Given the description of an element on the screen output the (x, y) to click on. 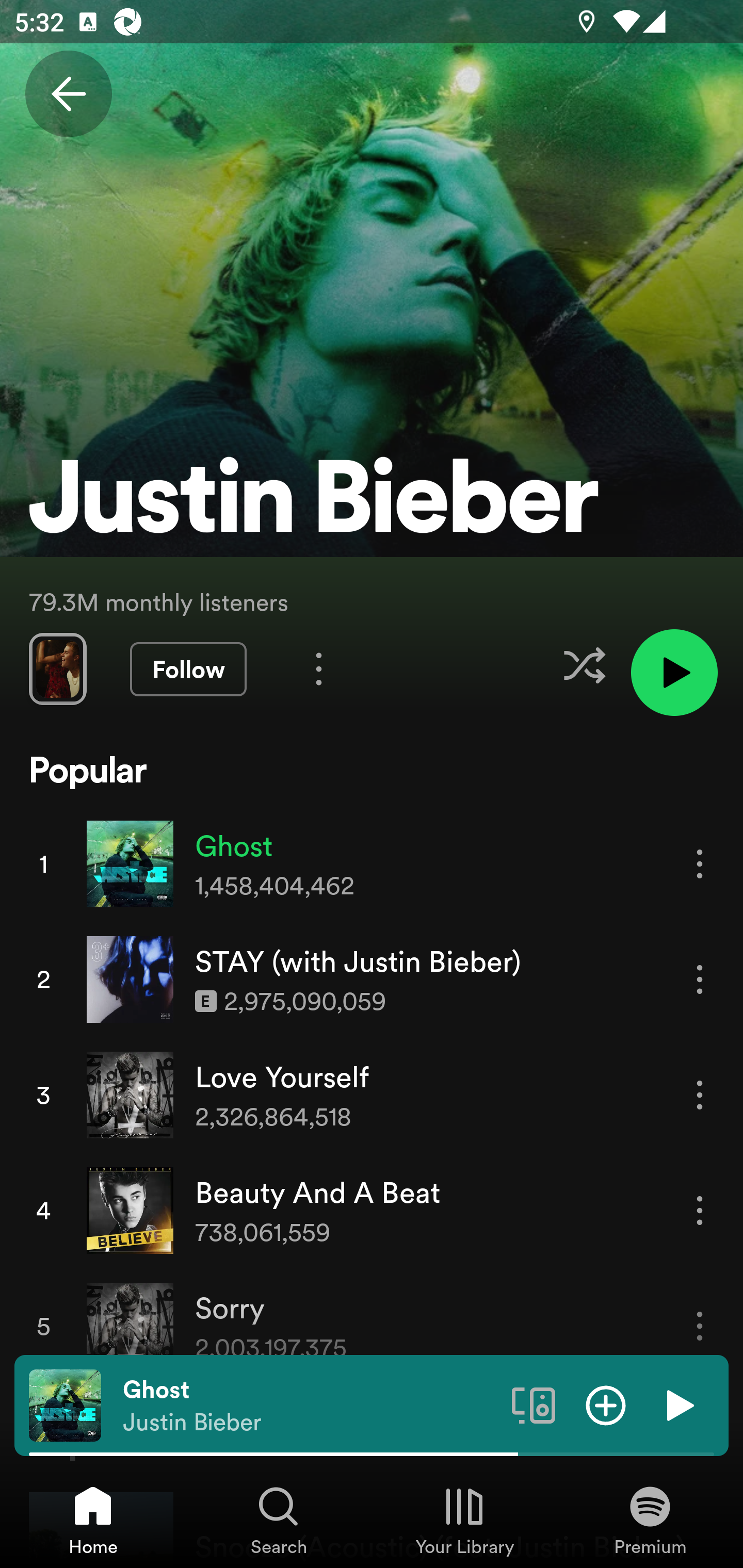
Back (68, 93)
Enable shuffle for this artist (583, 665)
More options for artist Justin Bieber (318, 668)
Play artist (674, 672)
Follow (188, 669)
More options for song Ghost (699, 863)
More options for song STAY (with Justin Bieber) (699, 979)
More options for song Love Yourself (699, 1095)
More options for song Beauty And A Beat (699, 1210)
More options for song Sorry (699, 1325)
Ghost Justin Bieber (309, 1405)
The cover art of the currently playing track (64, 1404)
Connect to a device. Opens the devices menu (533, 1404)
Add item (605, 1404)
Play (677, 1404)
Home, Tab 1 of 4 Home Home (92, 1519)
Search, Tab 2 of 4 Search Search (278, 1519)
Your Library, Tab 3 of 4 Your Library Your Library (464, 1519)
Premium, Tab 4 of 4 Premium Premium (650, 1519)
